Given the description of an element on the screen output the (x, y) to click on. 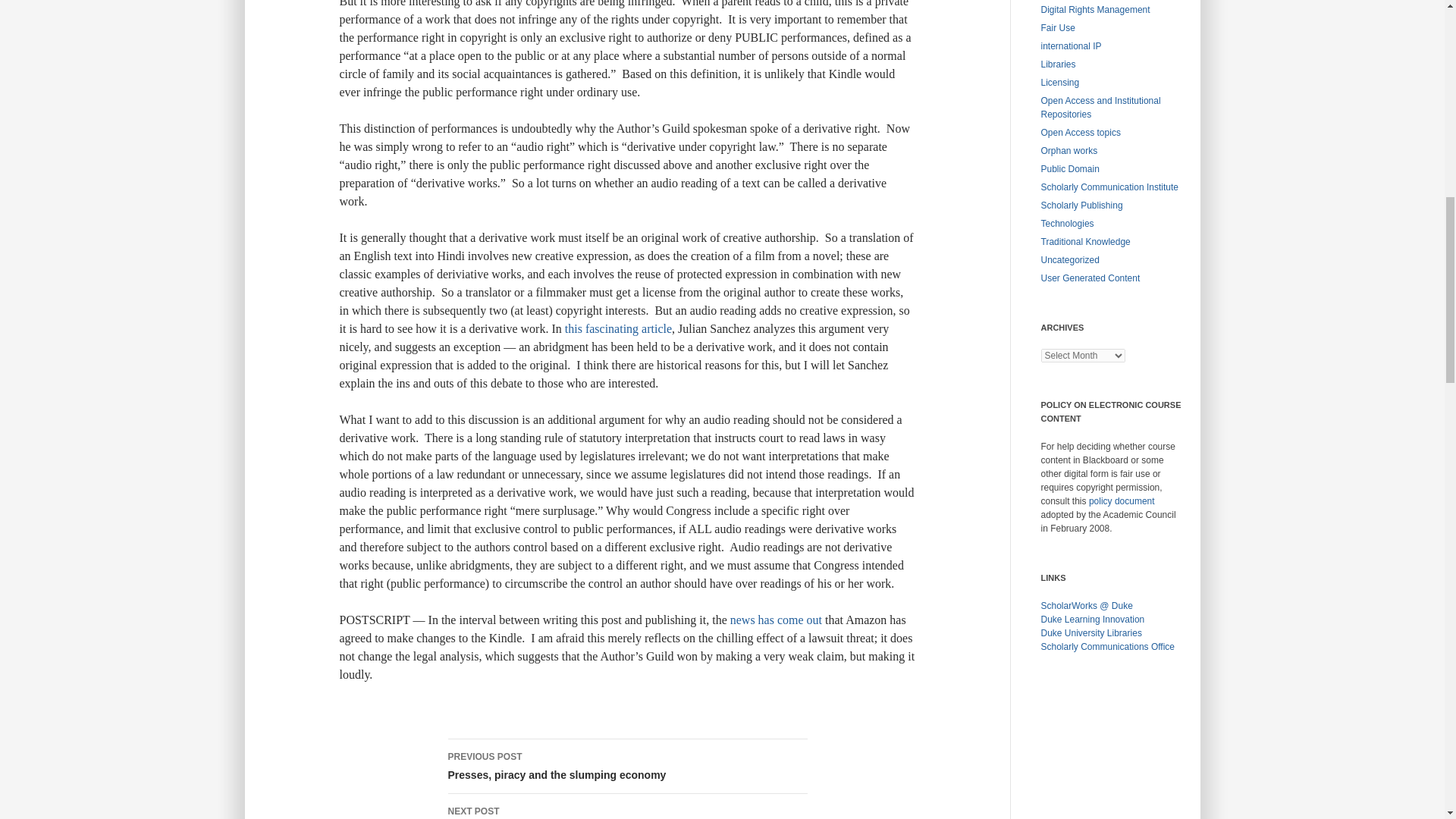
news has come out (626, 766)
this fascinating article (776, 619)
